Given the description of an element on the screen output the (x, y) to click on. 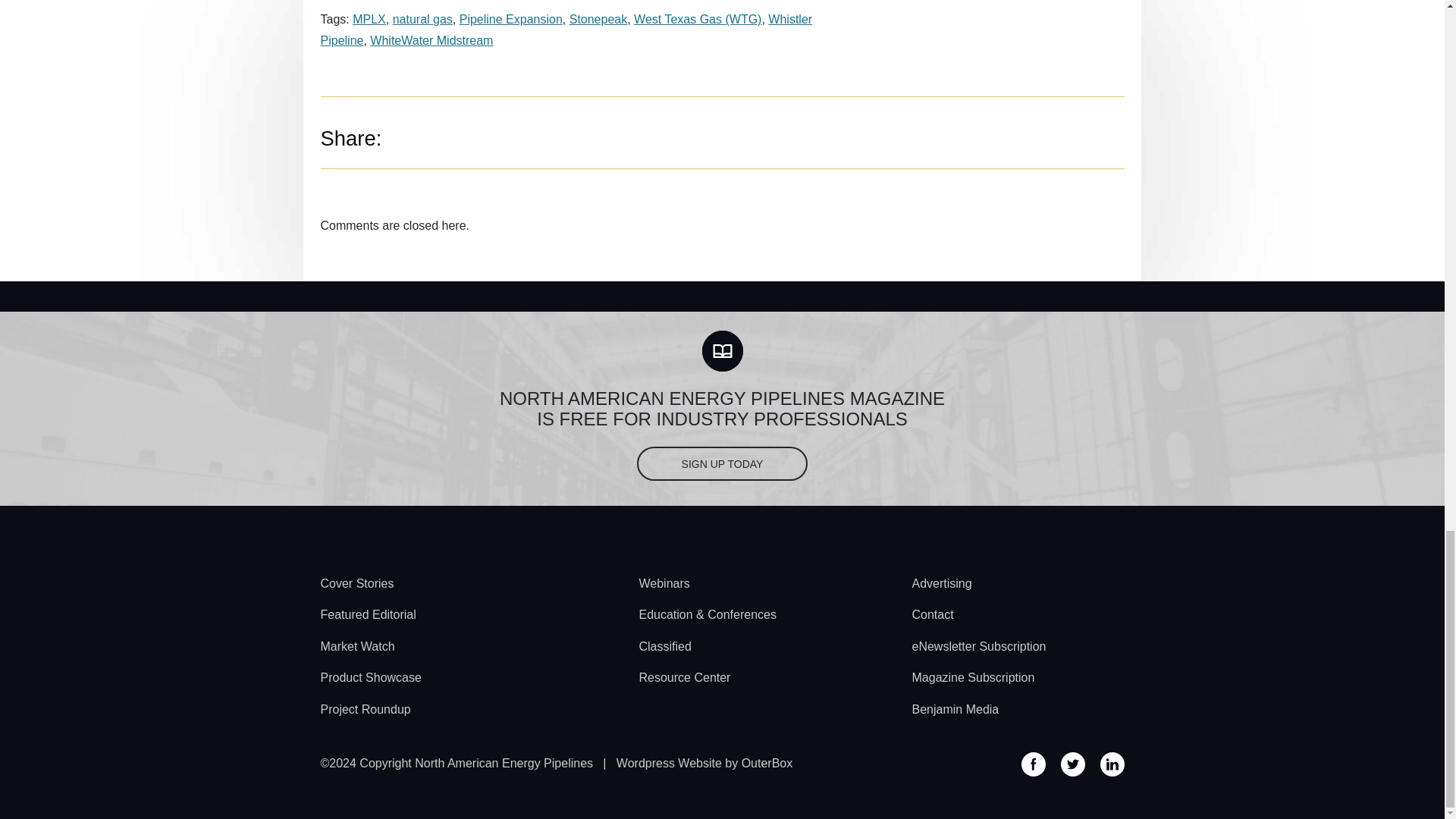
Whistler Pipeline (566, 29)
Stonepeak (598, 19)
WhiteWater Midstream (431, 40)
Outerbox (703, 762)
Pipeline Expansion (511, 19)
MPLX (368, 19)
natural gas (422, 19)
